Given the description of an element on the screen output the (x, y) to click on. 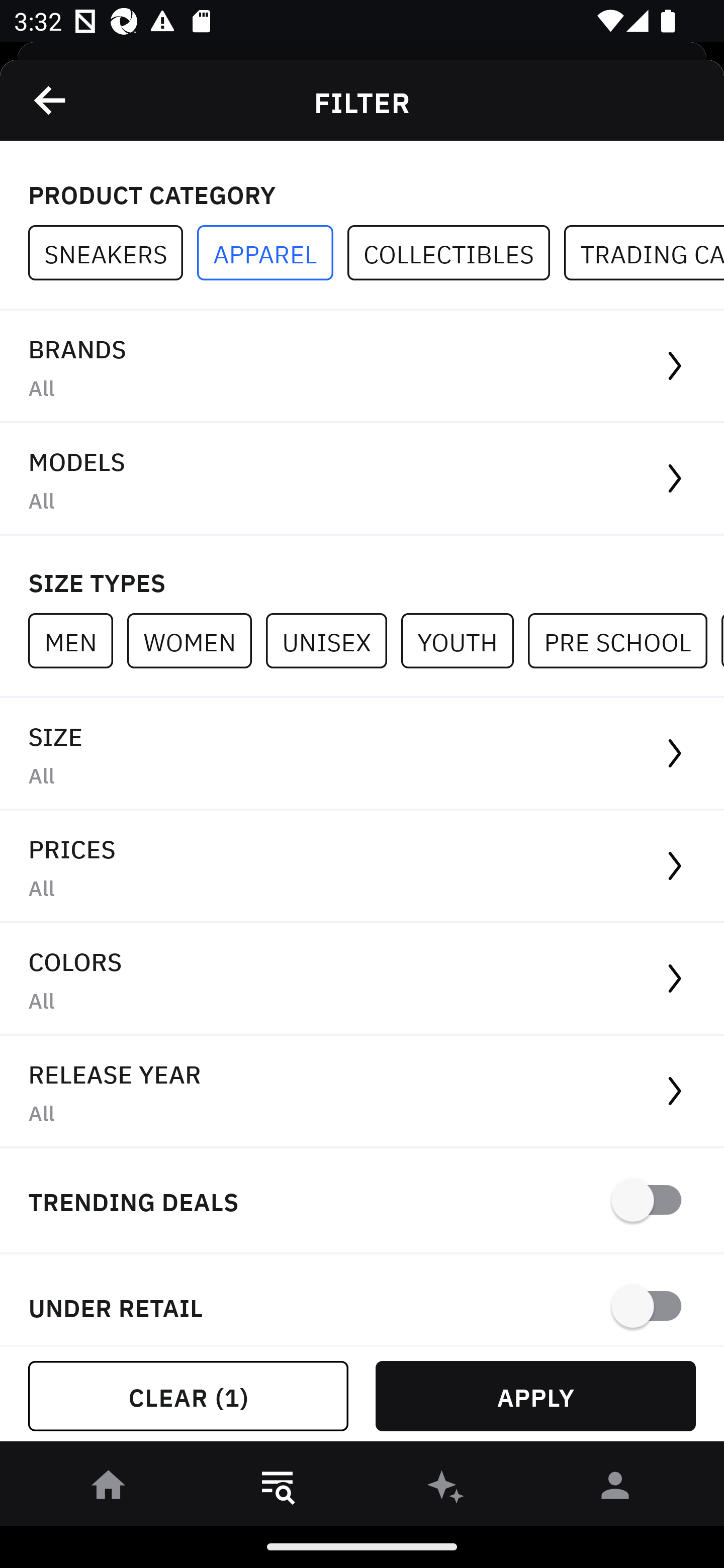
 (50, 100)
SNEAKERS (112, 252)
APPAREL (271, 252)
COLLECTIBLES (455, 252)
TRADING CARDS (643, 252)
BRANDS All (362, 366)
MODELS All (362, 479)
MEN (77, 640)
WOMEN (196, 640)
UNISEX (333, 640)
YOUTH (464, 640)
PRE SCHOOL (624, 640)
SIZE All (362, 753)
PRICES All (362, 866)
COLORS All (362, 979)
RELEASE YEAR All (362, 1091)
TRENDING DEALS (362, 1200)
UNDER RETAIL (362, 1299)
CLEAR (1) (188, 1396)
APPLY (535, 1396)
󰋜 (108, 1488)
󱎸 (277, 1488)
󰫢 (446, 1488)
󰀄 (615, 1488)
